Given the description of an element on the screen output the (x, y) to click on. 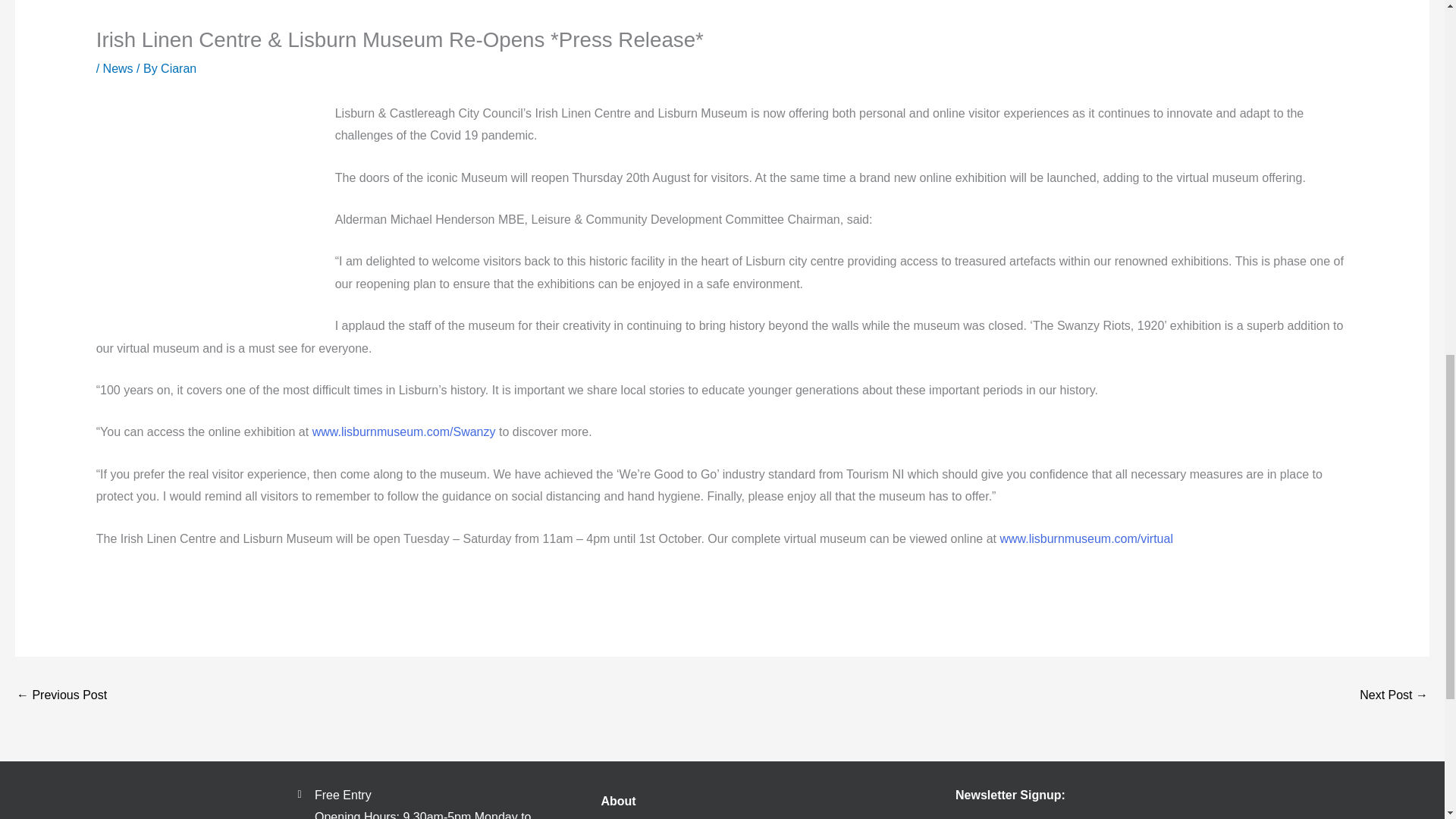
View all posts by Ciaran (178, 68)
Free Historical Walking Tours of Lisburn (1393, 696)
'We're Good to Go', Covid-19 Award (61, 696)
